Given the description of an element on the screen output the (x, y) to click on. 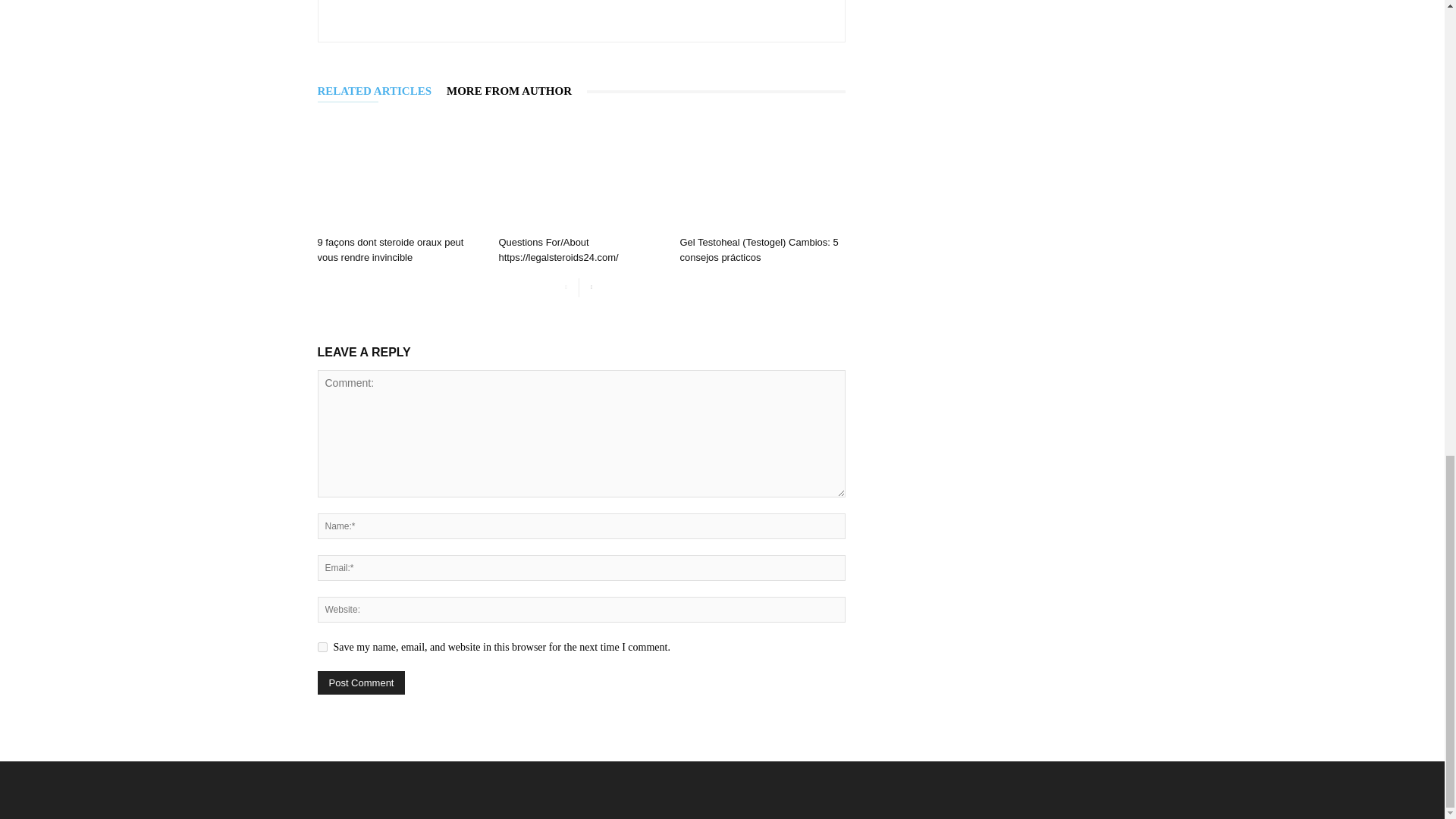
yes (321, 646)
RELATED ARTICLES (381, 91)
MORE FROM AUTHOR (516, 91)
Post Comment (360, 682)
